Given the description of an element on the screen output the (x, y) to click on. 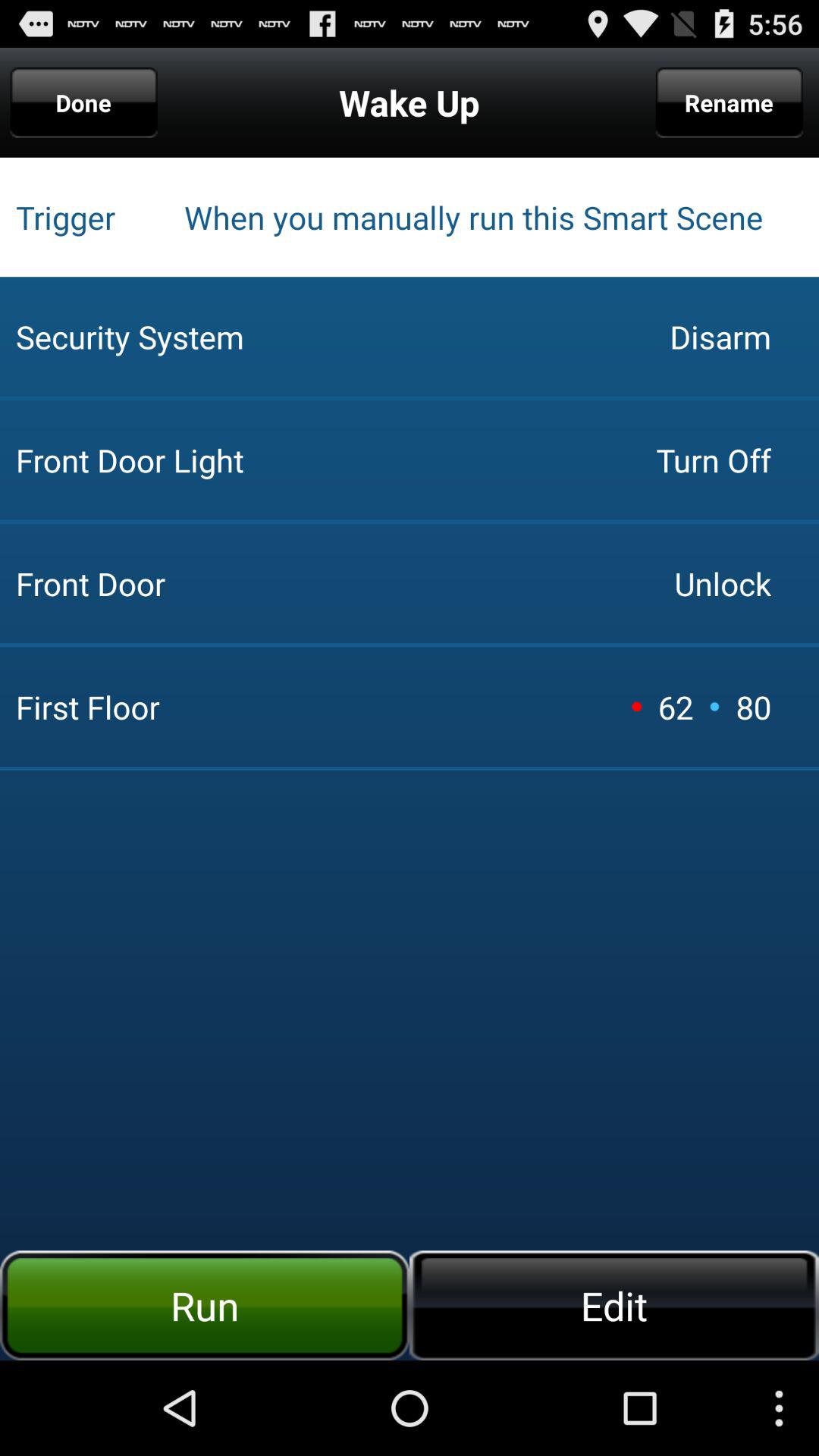
choose the 80 icon (753, 706)
